Given the description of an element on the screen output the (x, y) to click on. 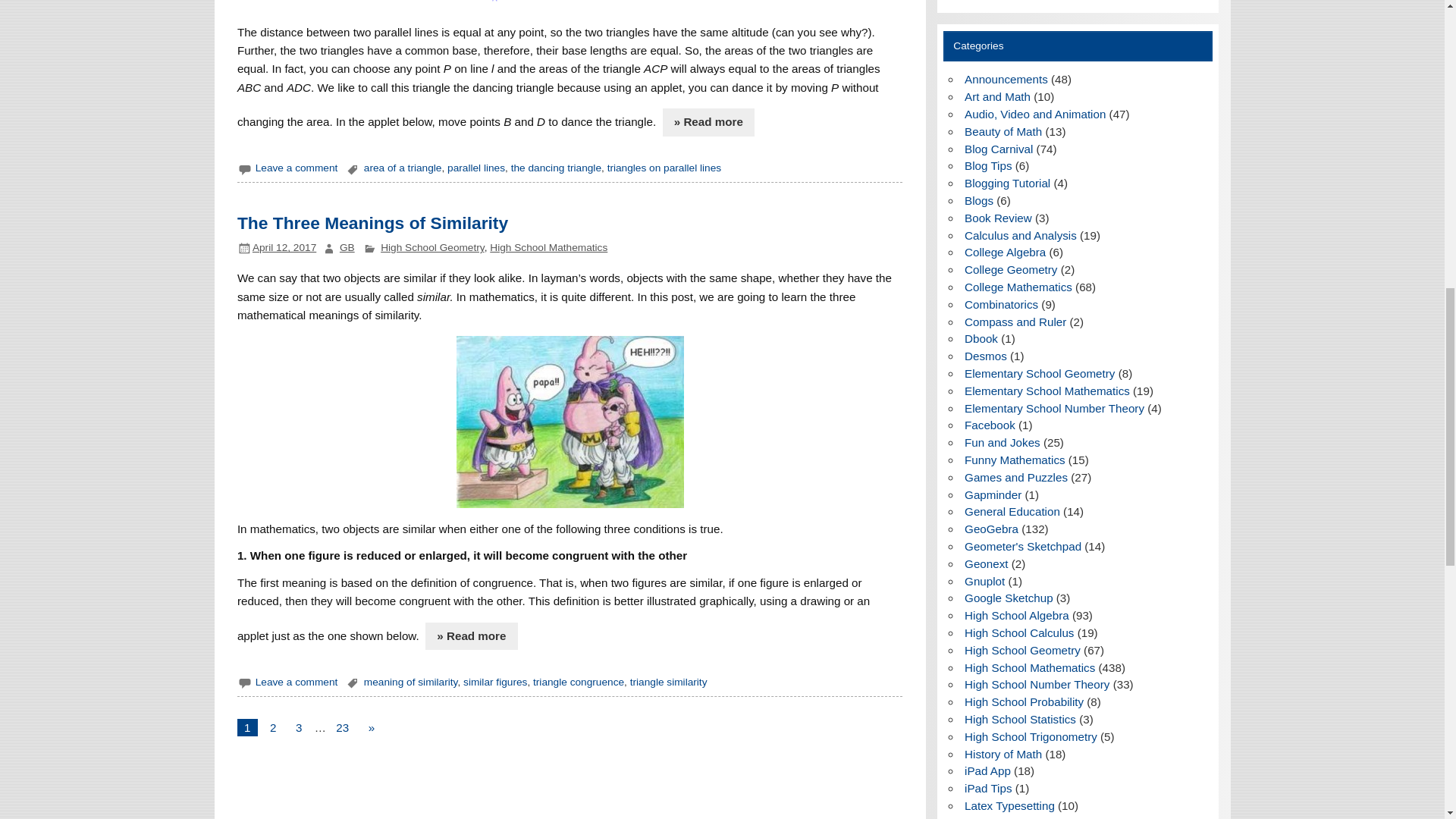
View all posts by GB (347, 247)
Leave a comment (296, 167)
1:33 pm (283, 247)
